Given the description of an element on the screen output the (x, y) to click on. 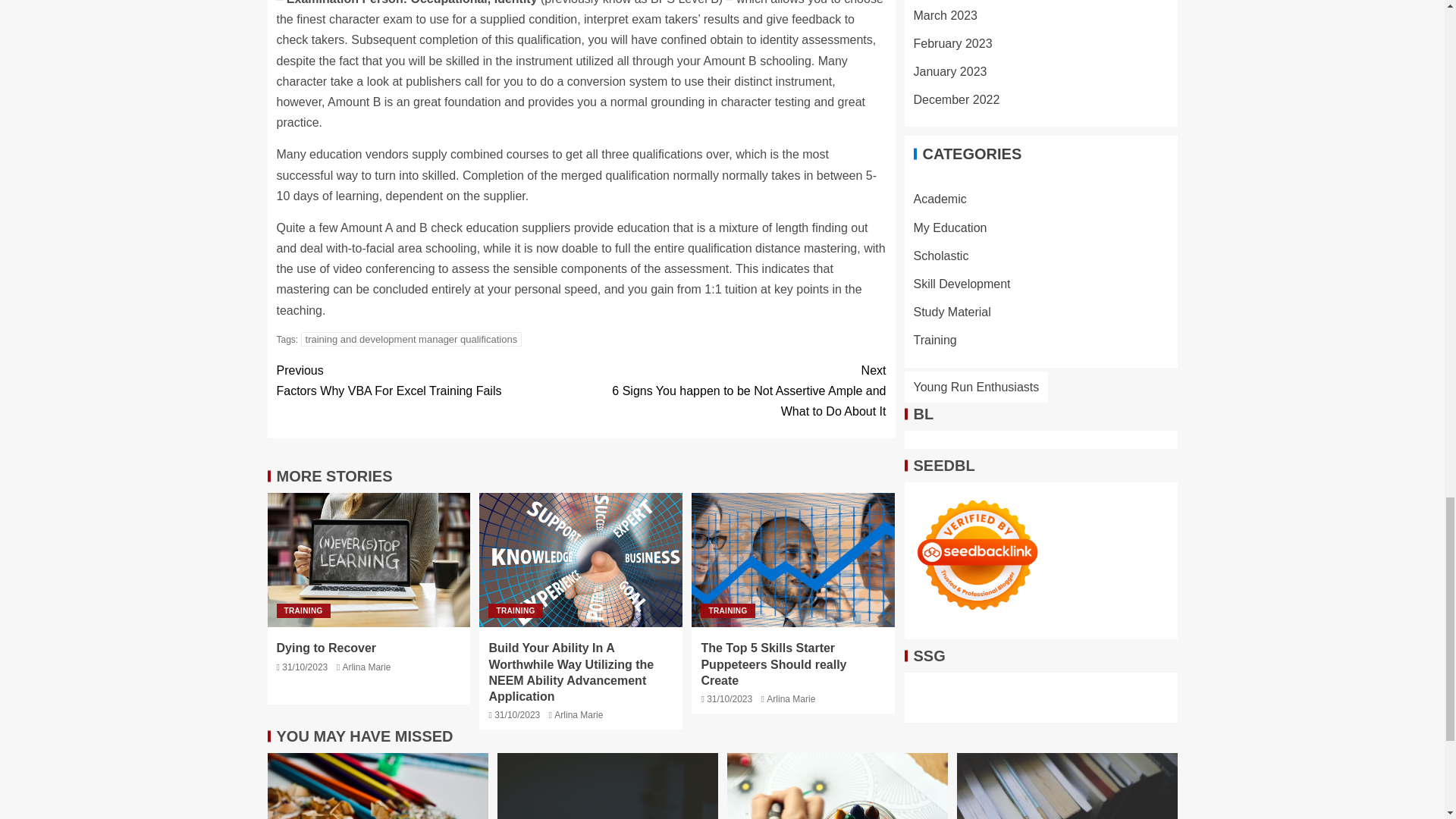
Dying to Recover (368, 560)
TRAINING (727, 610)
Arlina Marie (578, 715)
Arlina Marie (366, 666)
Seedbacklink (976, 53)
Dying to Recover (325, 647)
Essay on How to Assistance Very poor and Needy Individuals (1066, 785)
TRAINING (514, 610)
training and development manager qualifications (428, 380)
TRAINING (411, 339)
Importance of Ethical Values in the Current day Situation (303, 610)
The Top 5 Skills Starter Puppeteers Should really Create (376, 785)
